Given the description of an element on the screen output the (x, y) to click on. 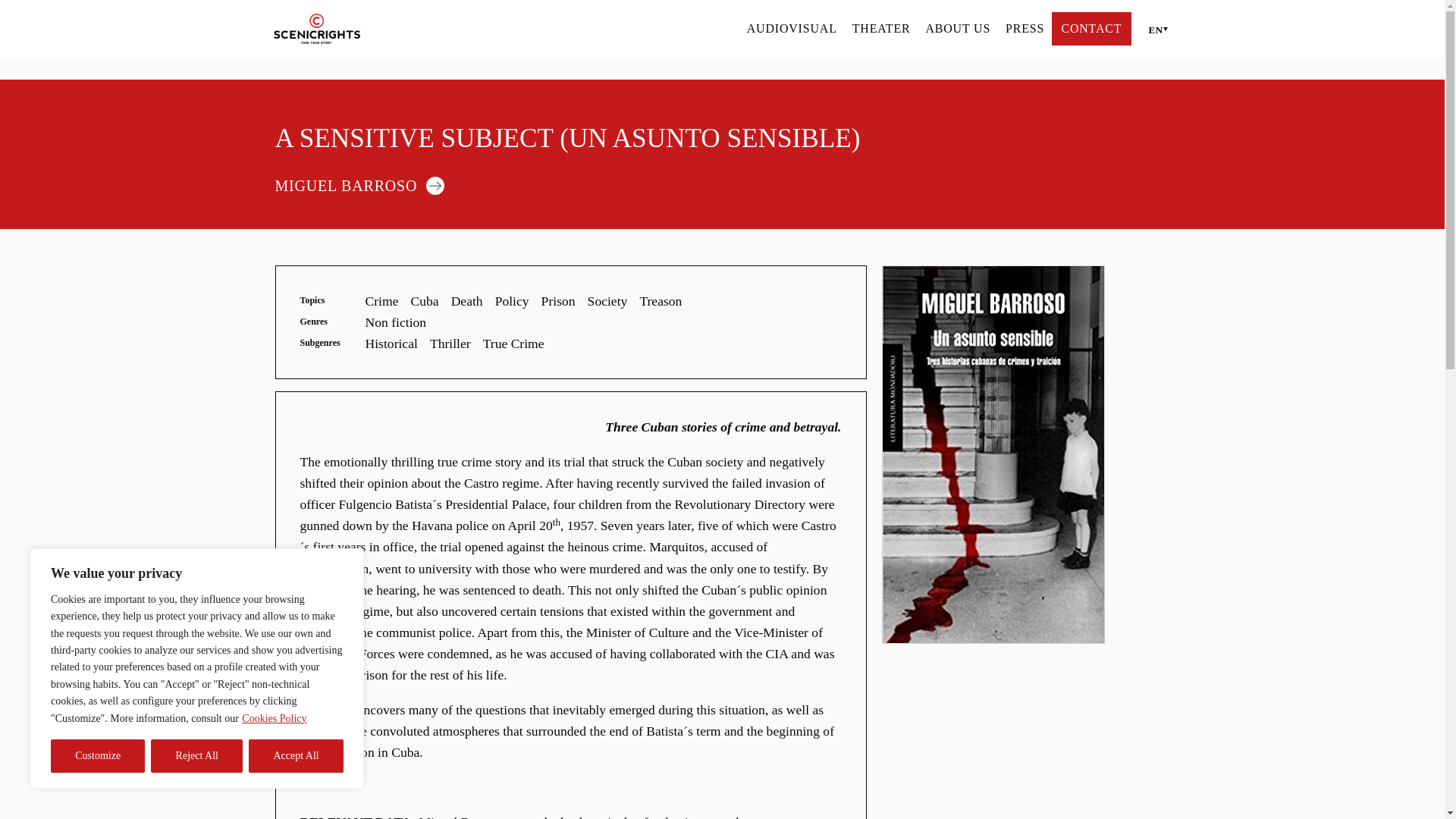
AUDIOVISUAL (791, 28)
EN (1154, 28)
Customize (97, 756)
THEATER (881, 28)
PRESS (1024, 28)
Accept All (295, 756)
Reject All (197, 756)
MIGUEL BARROSO (366, 184)
CONTACT (1091, 28)
